Given the description of an element on the screen output the (x, y) to click on. 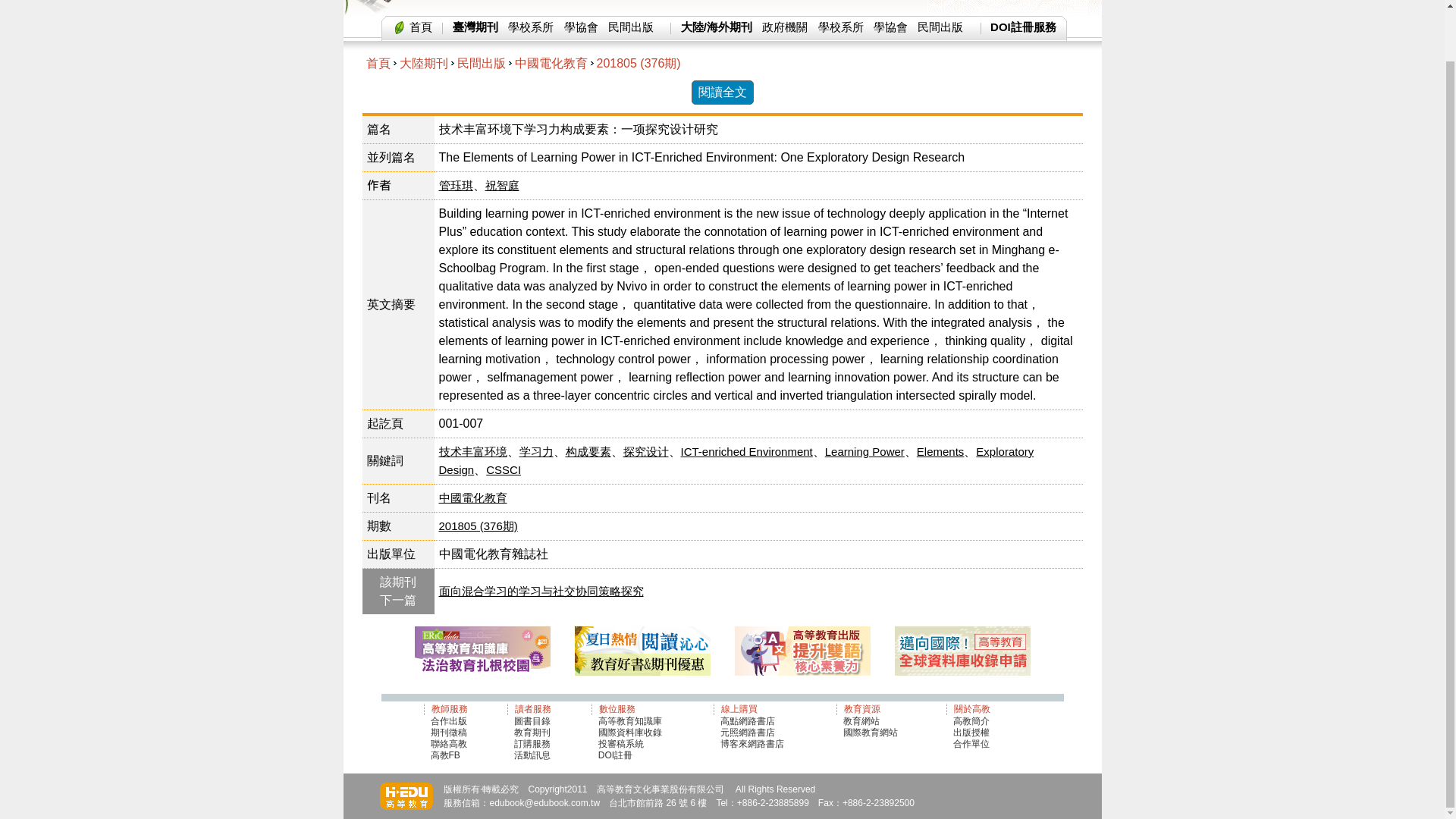
ICT-enriched Environment (746, 451)
Learning Power (864, 451)
Exploratory Design (735, 460)
Elements (940, 451)
CSSCI (503, 469)
